Given the description of an element on the screen output the (x, y) to click on. 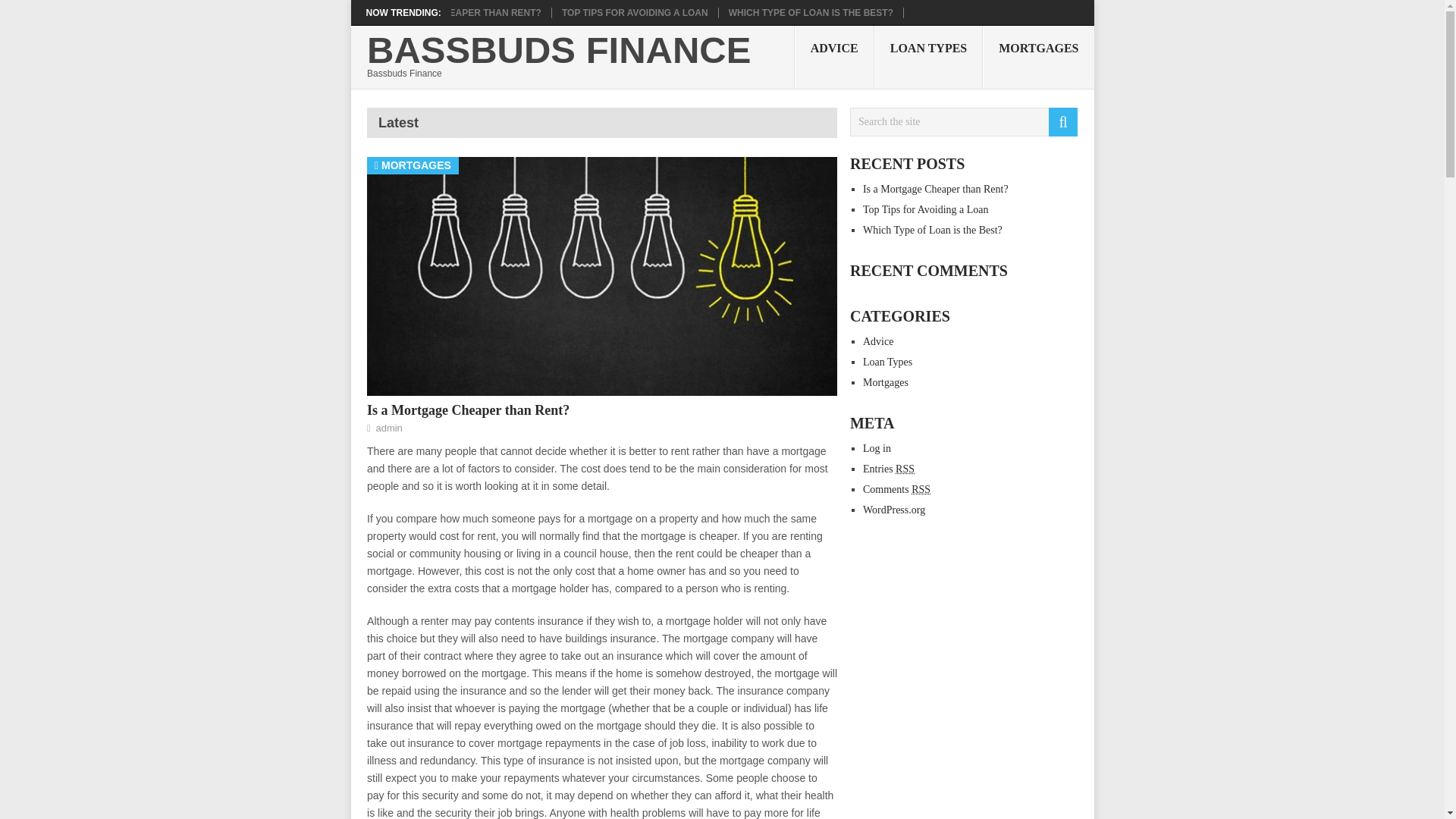
ADVICE (834, 56)
LOAN TYPES (929, 56)
IS A MORTGAGE CHEAPER THAN RENT? (451, 12)
WHICH TYPE OF LOAN IS THE BEST? (811, 12)
Posts by admin (388, 428)
Which Type of Loan is the Best? (933, 229)
Really Simple Syndication (920, 489)
BASSBUDS FINANCE (558, 49)
admin (388, 428)
Is a Mortgage Cheaper than Rent? (451, 12)
